Given the description of an element on the screen output the (x, y) to click on. 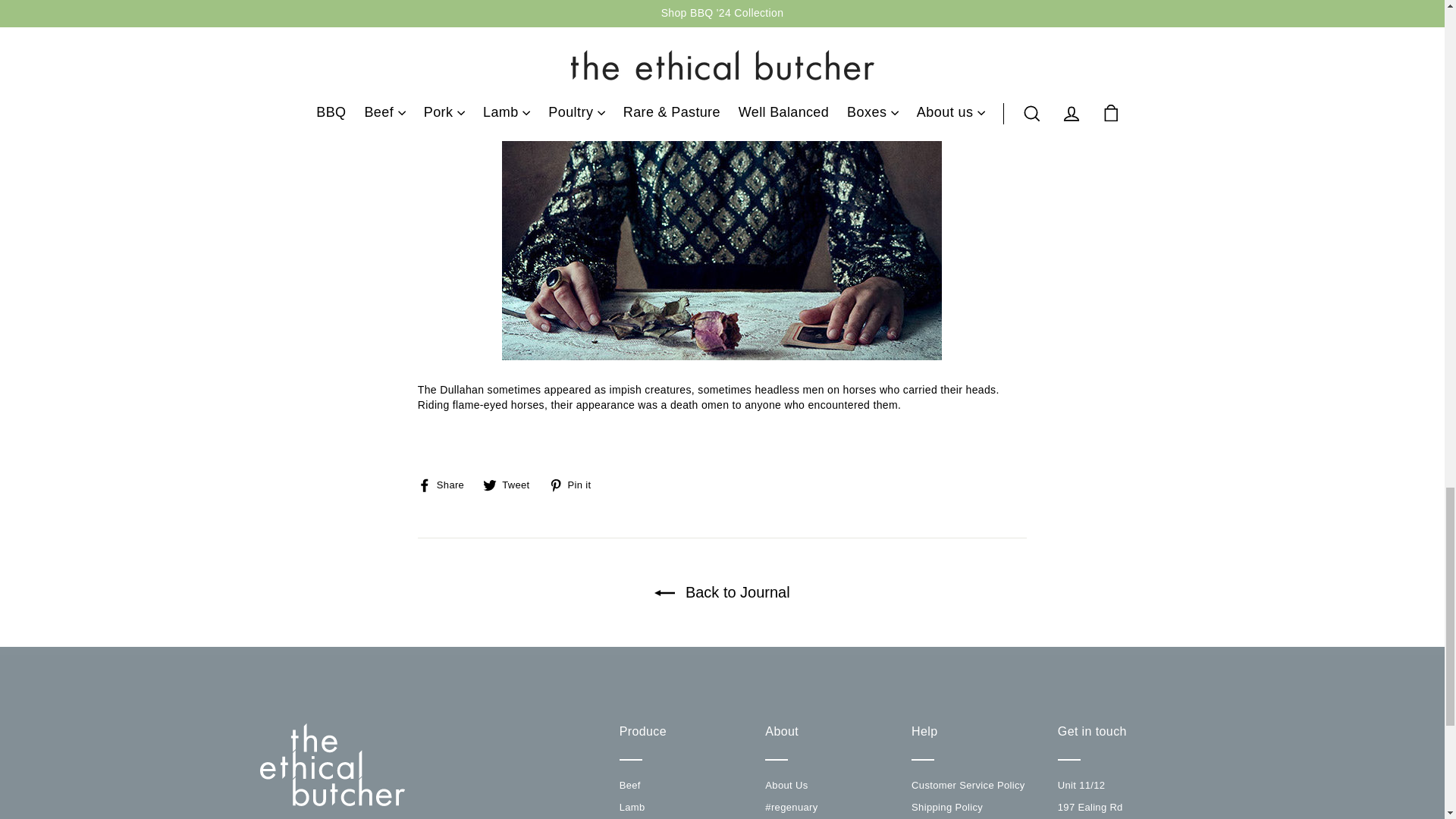
Pin on Pinterest (575, 484)
Tweet on Twitter (511, 484)
Share on Facebook (446, 484)
